Given the description of an element on the screen output the (x, y) to click on. 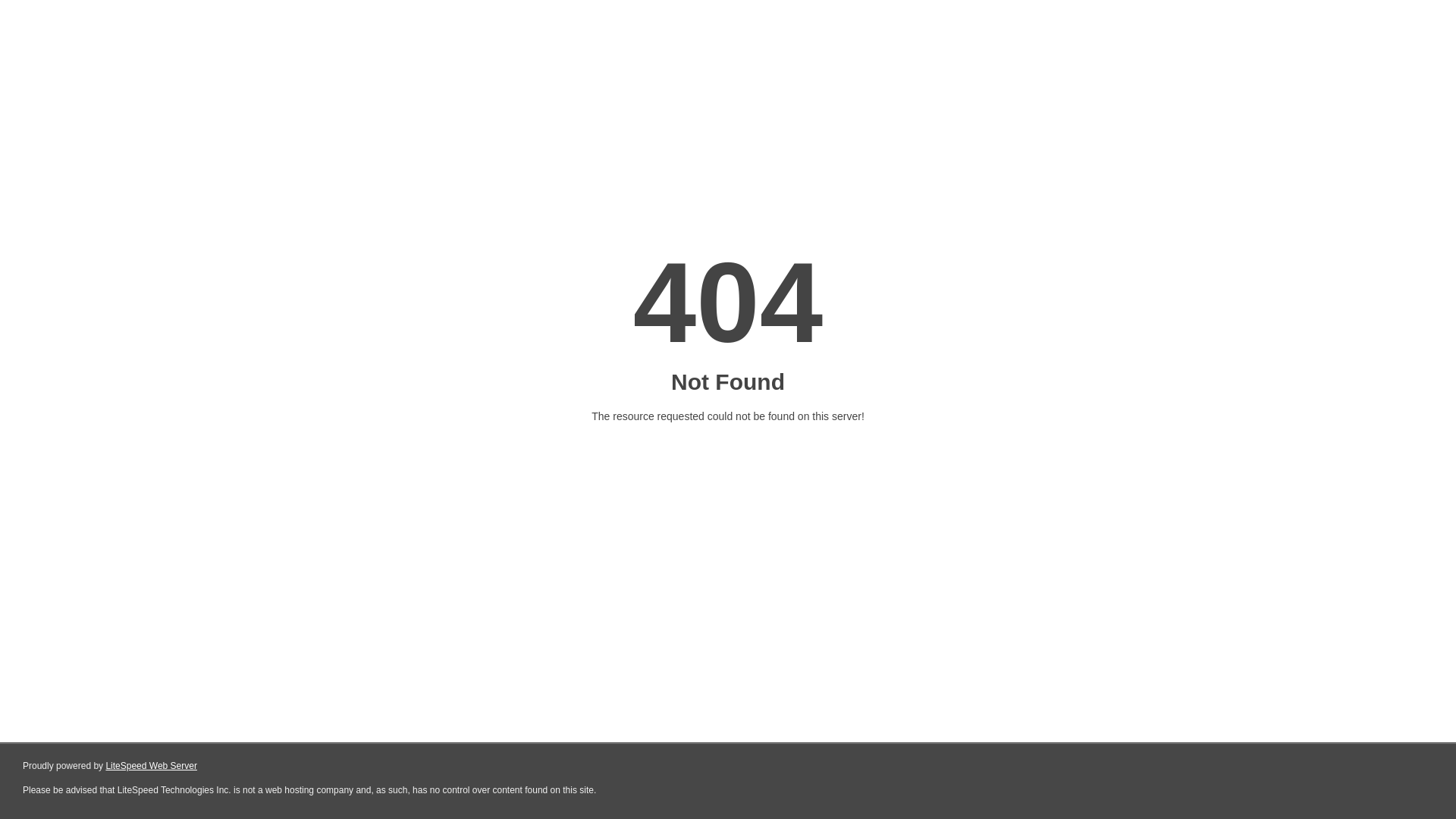
LiteSpeed Web Server Element type: text (151, 765)
